Given the description of an element on the screen output the (x, y) to click on. 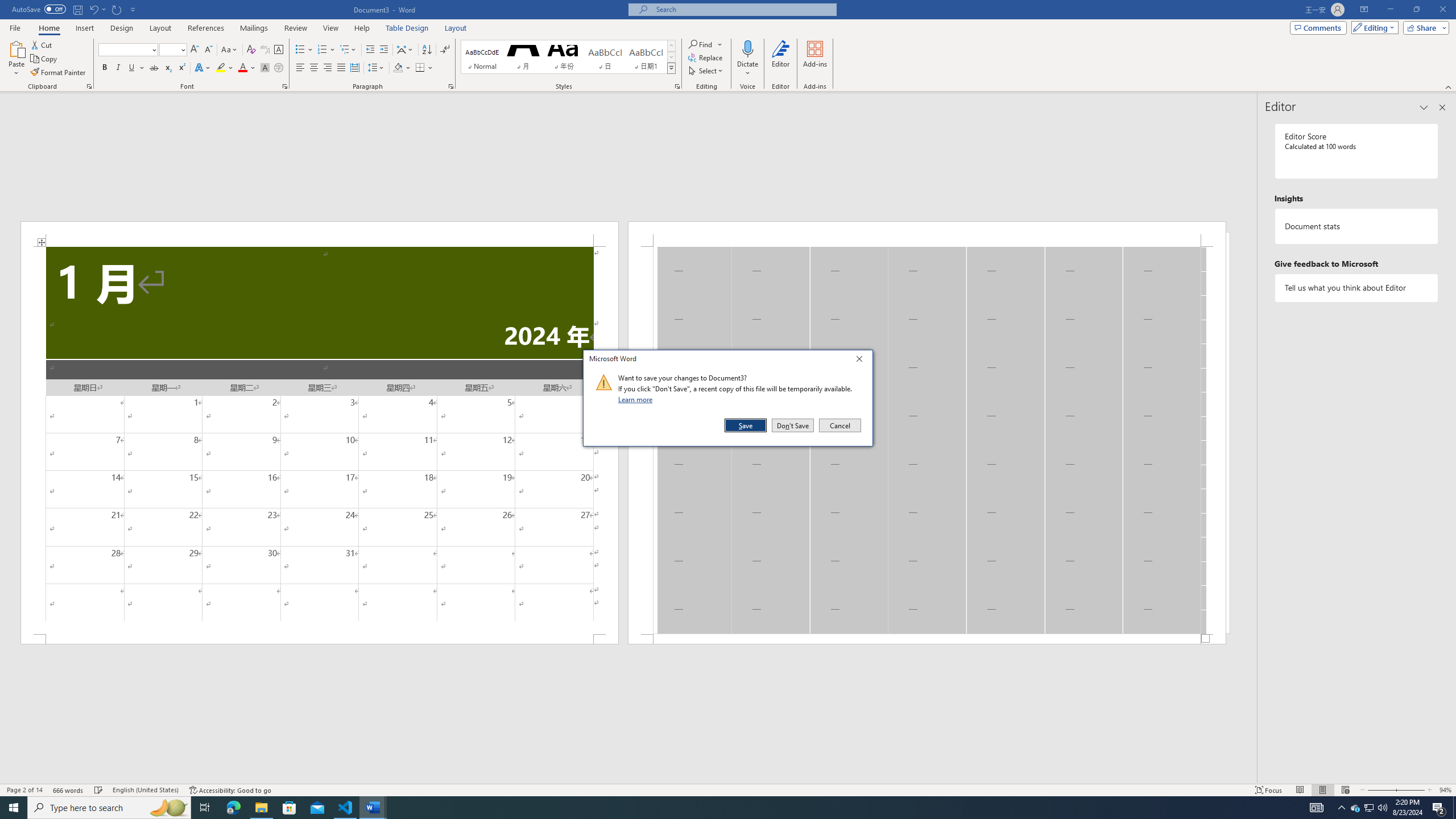
Replace... (705, 56)
Q2790: 100% (1382, 807)
Sort... (1355, 807)
Start (426, 49)
Character Border (13, 807)
Align Right (278, 49)
Accessibility Checker Accessibility: Good to go (327, 67)
Table Design (230, 790)
AutomationID: 4105 (407, 28)
